Given the description of an element on the screen output the (x, y) to click on. 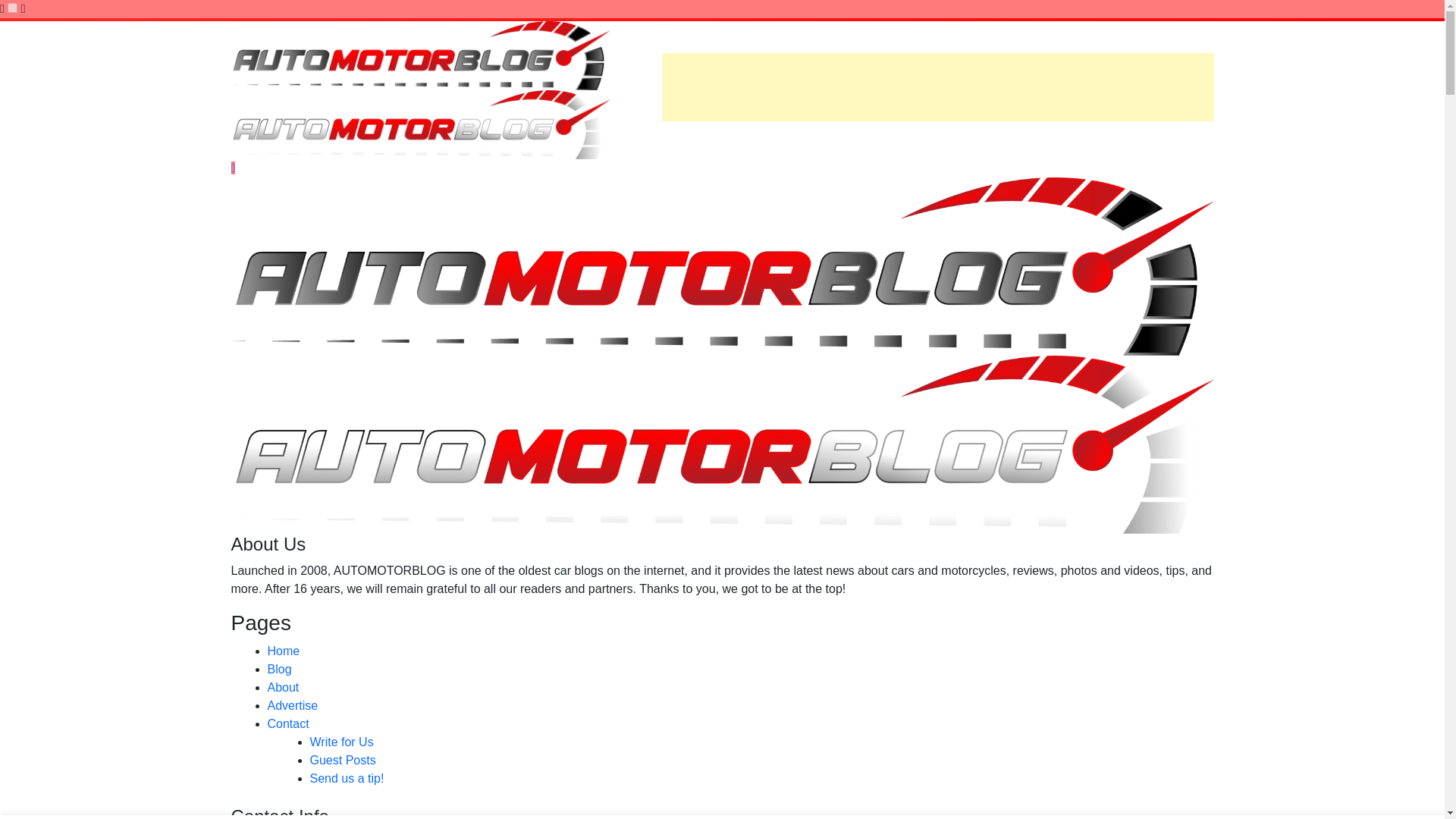
About (282, 686)
Send us a tip! (346, 778)
Guest Posts (341, 759)
Blog (278, 668)
Write for Us (340, 741)
Contact (287, 723)
Advertisement (936, 87)
Home (282, 650)
Advertise (291, 705)
on (12, 8)
